Given the description of an element on the screen output the (x, y) to click on. 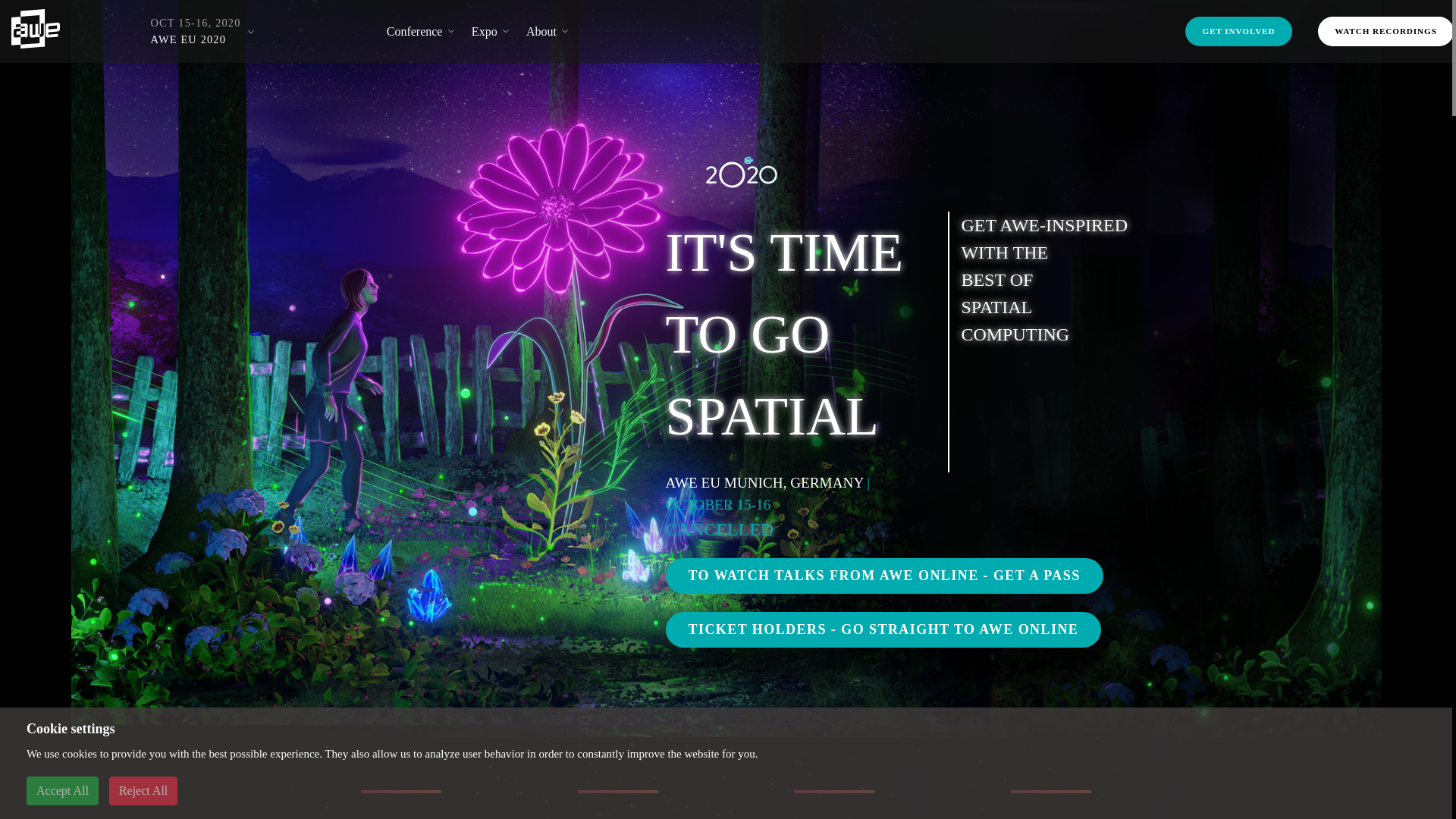
TO WATCH TALKS FROM AWE ONLINE - GET A PASS (884, 575)
TICKET HOLDERS - GO STRAIGHT TO AWE ONLINE (883, 629)
GET INVOLVED (1238, 30)
